Given the description of an element on the screen output the (x, y) to click on. 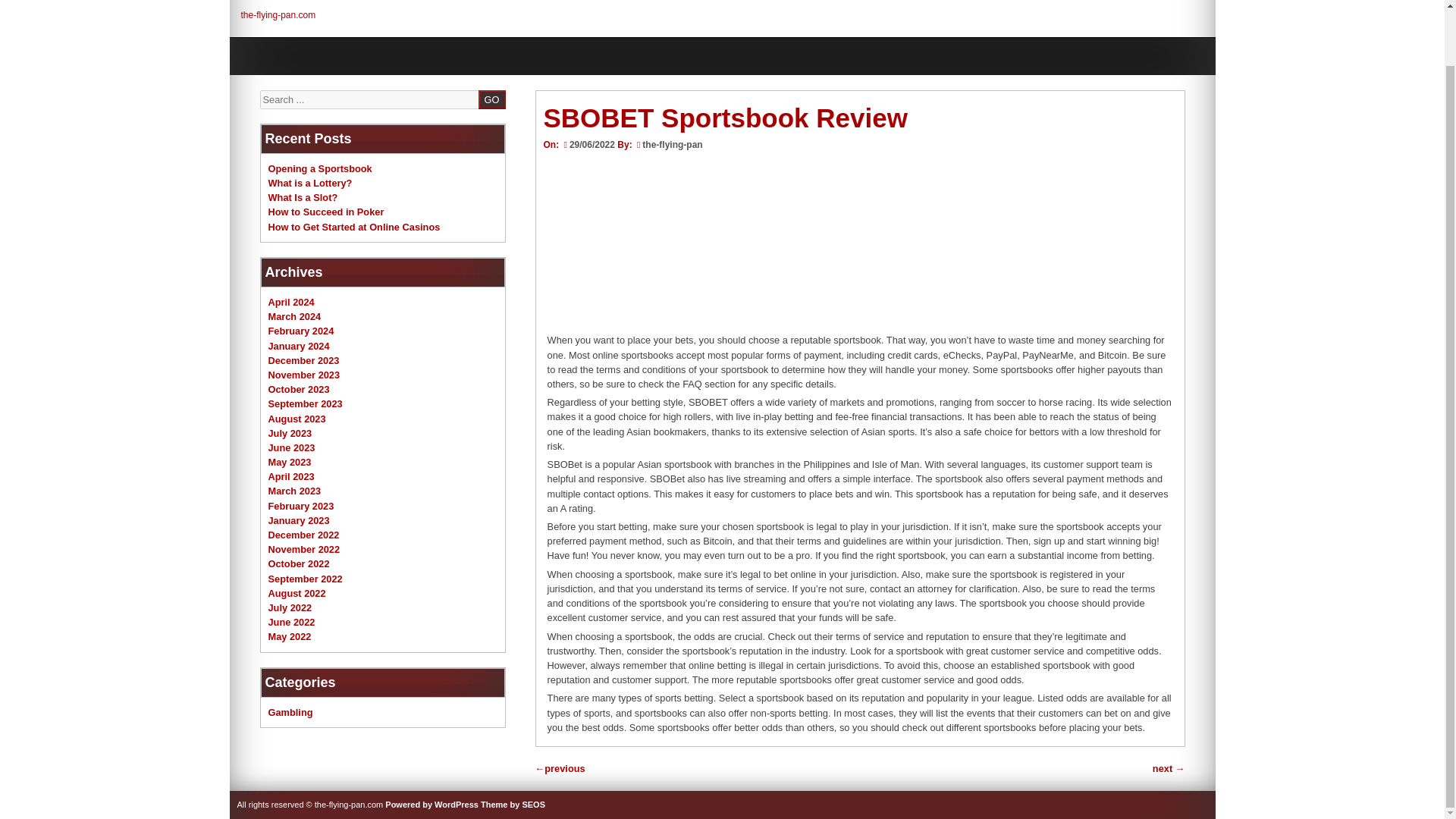
Opening a Sportsbook (319, 168)
Gambling (290, 712)
How to Get Started at Online Casinos (354, 226)
GO (492, 98)
What is a Lottery? (309, 183)
July 2022 (290, 607)
October 2022 (298, 563)
September 2022 (304, 578)
May 2022 (289, 636)
the-flying-pan (671, 144)
